Given the description of an element on the screen output the (x, y) to click on. 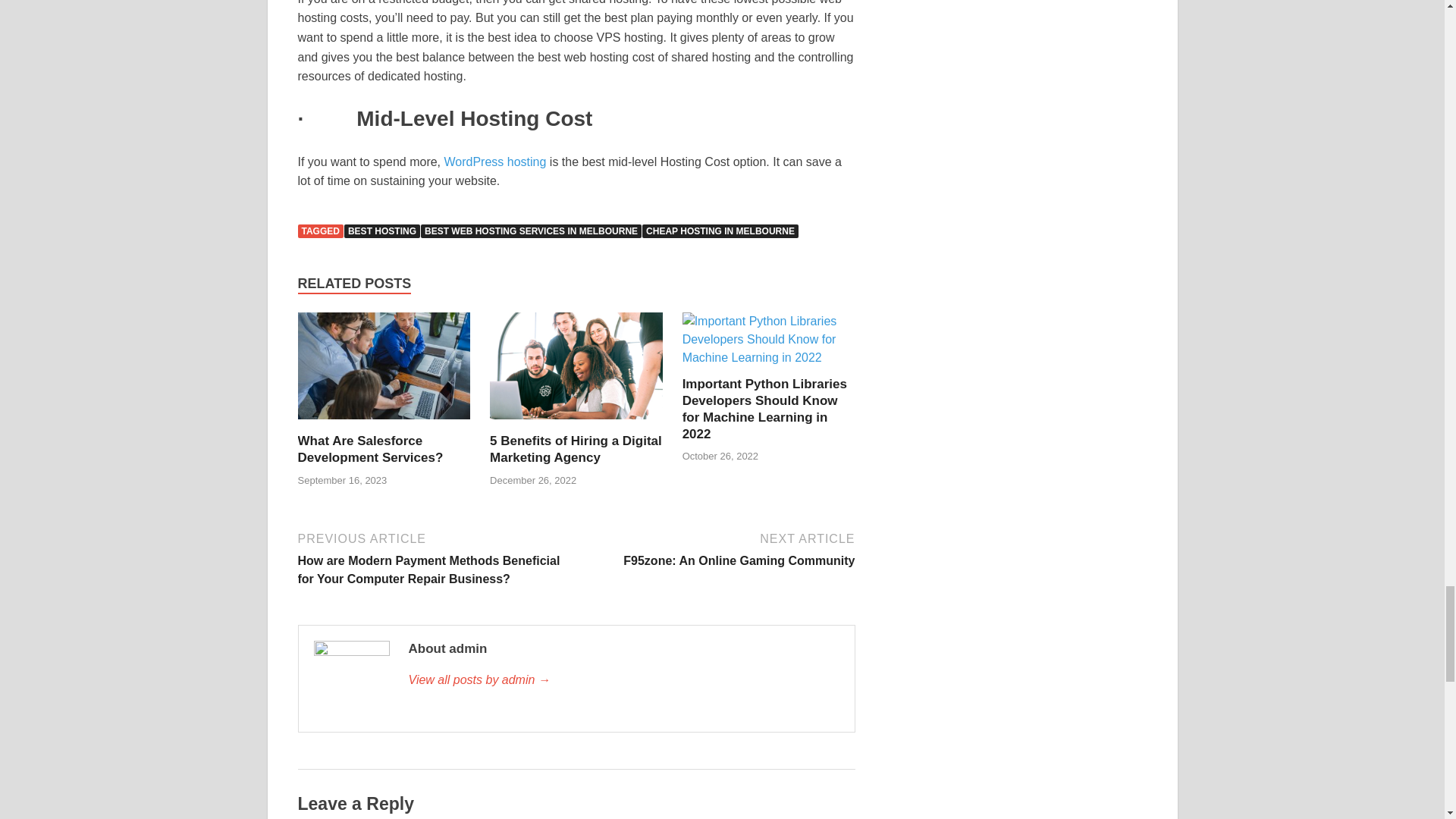
BEST HOSTING (381, 231)
WordPress hosting (495, 161)
admin (622, 679)
5 Benefits of Hiring a Digital Marketing Agency (575, 449)
What Are Salesforce Development Services? (369, 449)
5 Benefits of Hiring a Digital Marketing Agency (575, 422)
BEST WEB HOSTING SERVICES IN MELBOURNE (531, 231)
CHEAP HOSTING IN MELBOURNE (719, 231)
What Are Salesforce Development Services? (383, 422)
What Are Salesforce Development Services? (369, 449)
